Given the description of an element on the screen output the (x, y) to click on. 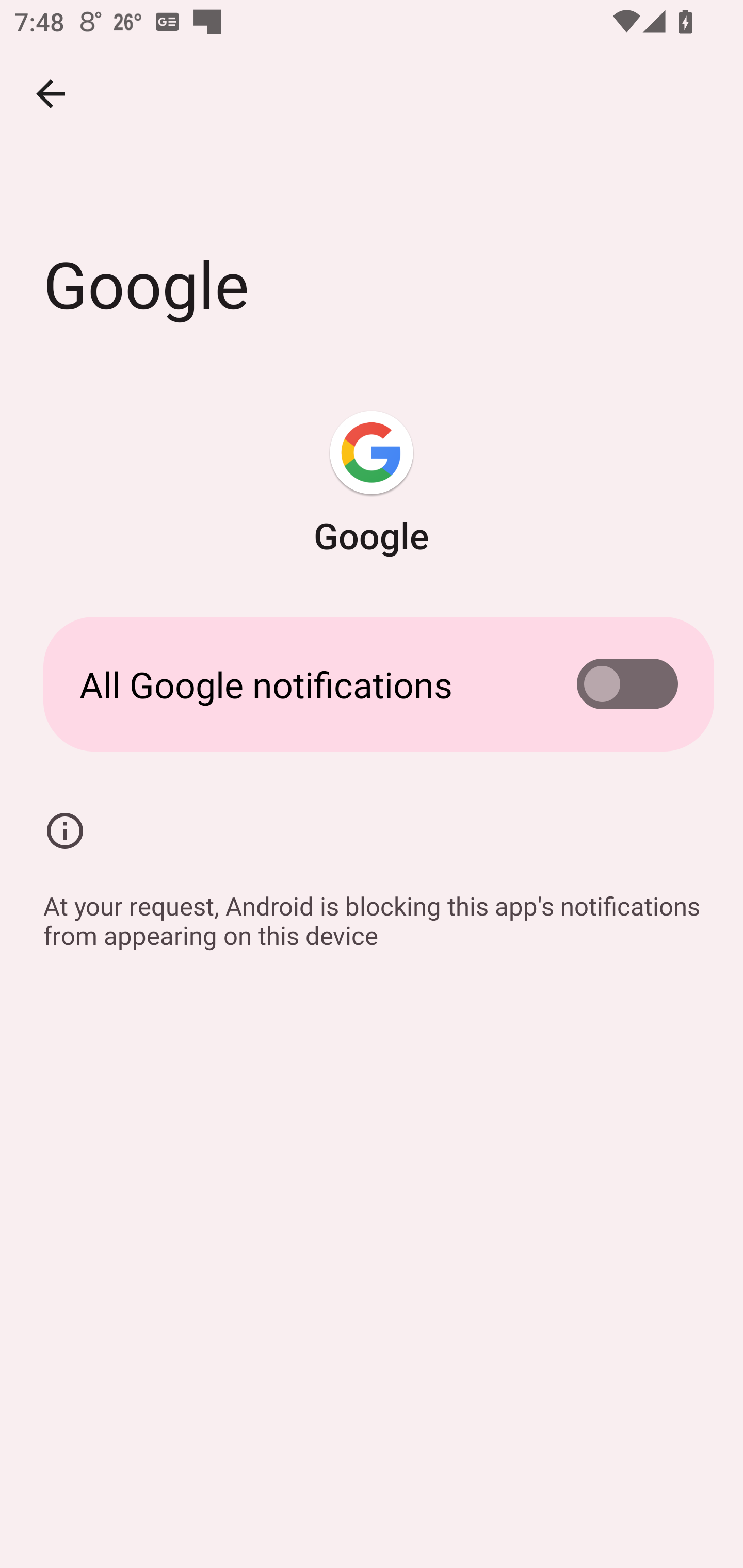
Navigate up (50, 93)
Google (371, 484)
All Google notifications (371, 684)
